Given the description of an element on the screen output the (x, y) to click on. 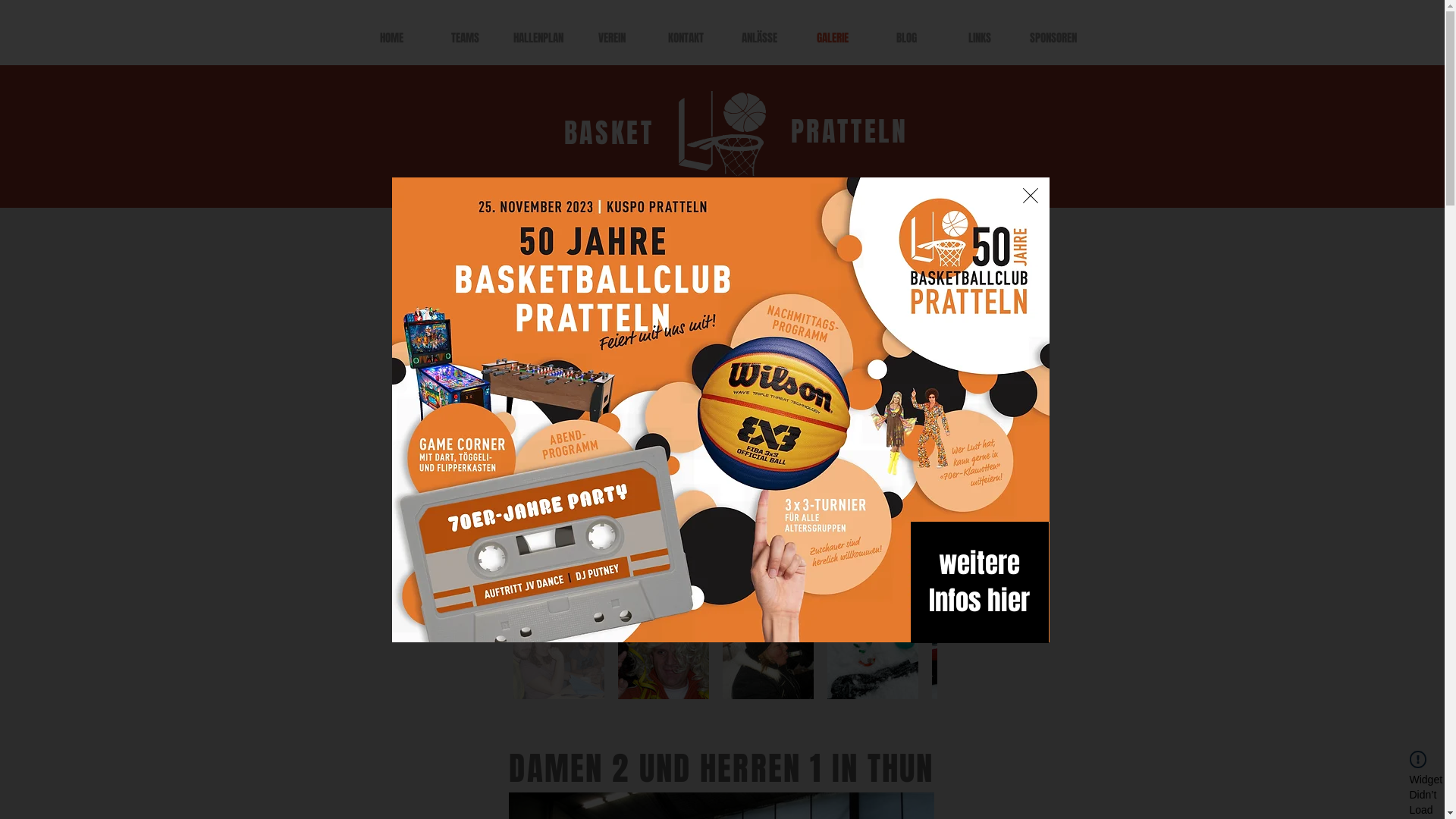
weitere
Infos hier Element type: text (978, 581)
SPONSOREN Element type: text (1052, 38)
HOME Element type: text (391, 38)
TEAMS Element type: text (464, 38)
bcp-jubi-flyer-website.jpg Element type: hover (719, 409)
LINKS Element type: text (979, 38)
GALERIE Element type: text (832, 38)
HALLENPLAN Element type: text (538, 38)
BLOG Element type: text (905, 38)
VEREIN Element type: text (611, 38)
KONTAKT Element type: text (685, 38)
